Given the description of an element on the screen output the (x, y) to click on. 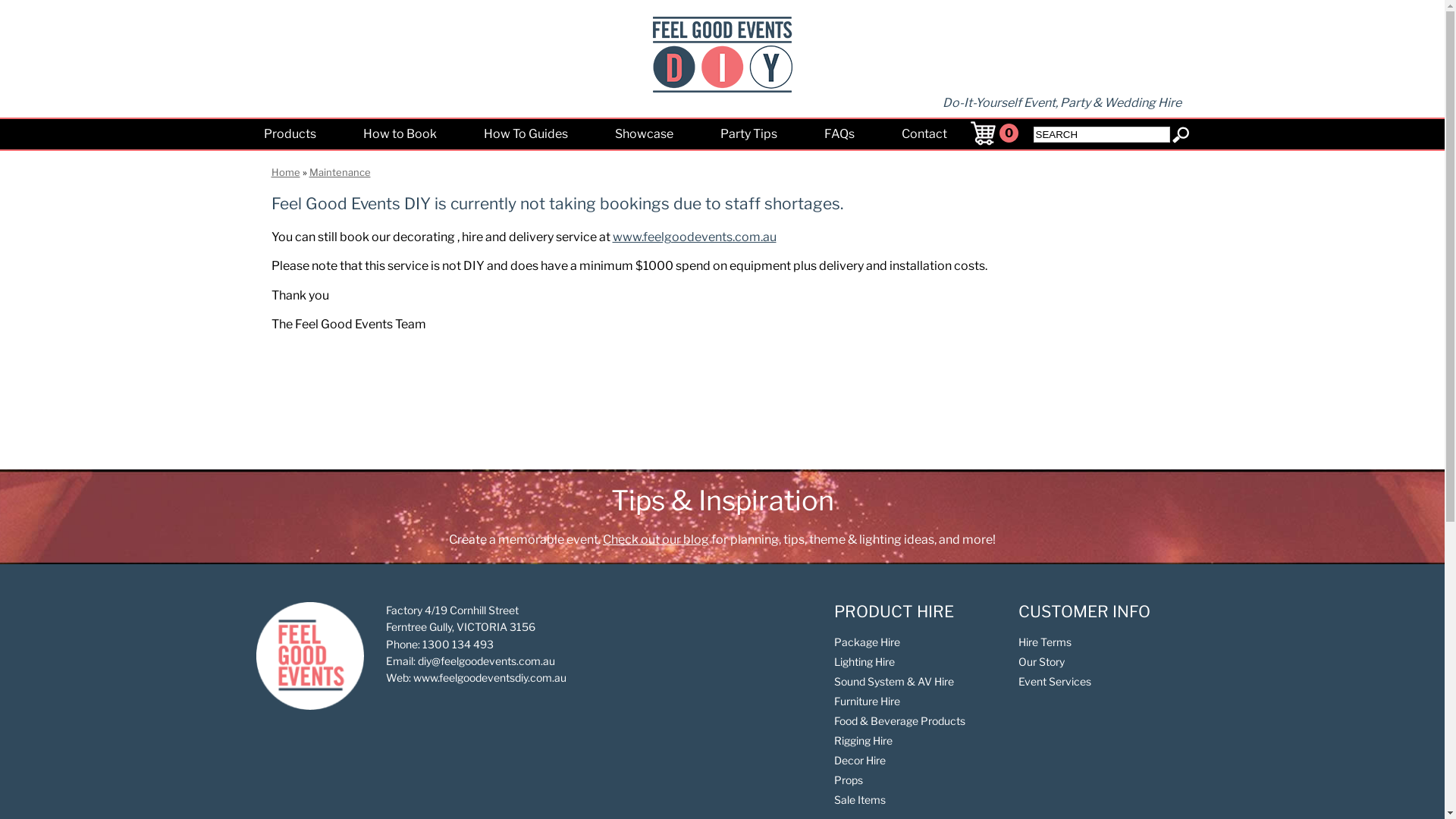
How To Guides Element type: text (525, 134)
Decor Hire Element type: text (859, 759)
Package Hire Element type: text (867, 641)
Sound System & AV Hire Element type: text (893, 680)
Check out our blog Element type: text (655, 539)
www.feelgoodevents.com.au Element type: text (694, 236)
Hire Terms Element type: text (1044, 641)
Showcase Element type: text (644, 134)
Our Story Element type: text (1041, 661)
Products Element type: text (289, 134)
0 Element type: text (1008, 132)
Home Element type: text (285, 172)
Sale Items Element type: text (859, 799)
www.feelgoodeventsdiy.com.au Element type: text (489, 677)
Maintenance Element type: text (339, 172)
Contact Element type: text (923, 134)
Food & Beverage Products Element type: text (899, 720)
Furniture Hire Element type: text (867, 700)
FAQs Element type: text (839, 134)
Party Tips Element type: text (747, 134)
Props Element type: text (848, 779)
Lighting Hire Element type: text (864, 661)
Rigging Hire Element type: text (863, 740)
Event Services Element type: text (1054, 680)
How to Book Element type: text (399, 134)
SEARCH Element type: text (1100, 134)
